Given the description of an element on the screen output the (x, y) to click on. 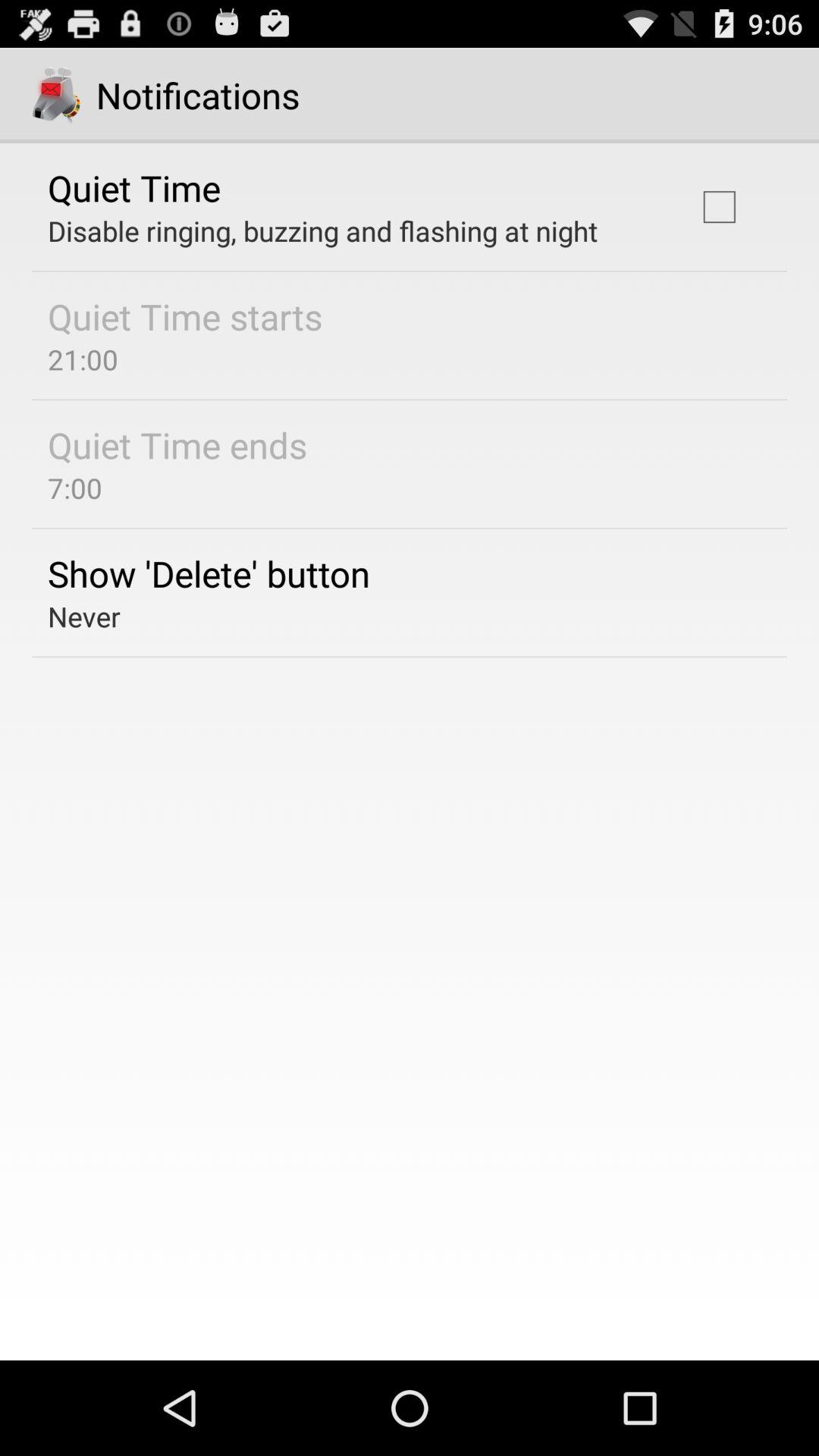
choose the item below the show 'delete' button app (83, 616)
